Given the description of an element on the screen output the (x, y) to click on. 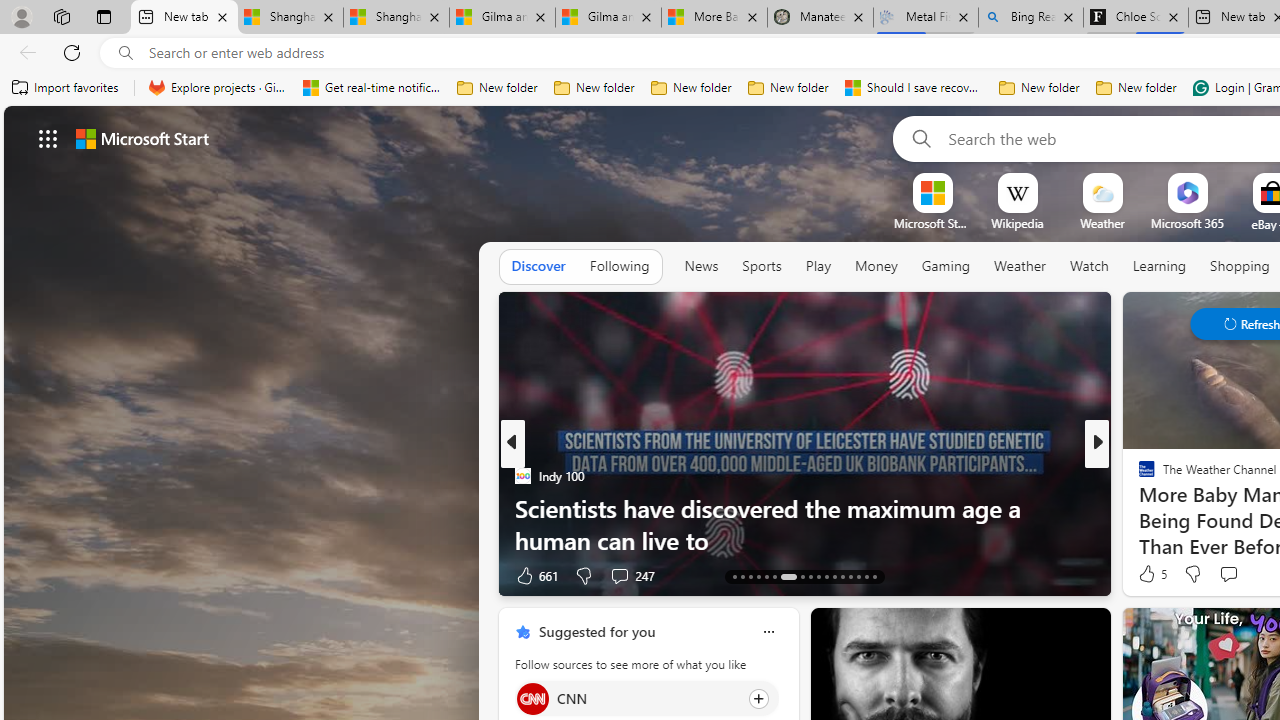
Money (876, 267)
Import favorites (65, 88)
CNN (532, 697)
View comments 6 Comment (1234, 575)
Microsoft 365 (1186, 223)
Sports (761, 265)
View comments 247 Comment (632, 574)
AutomationID: tab-13 (733, 576)
SlashGear (1138, 475)
Class: icon-img (768, 632)
